Given the description of an element on the screen output the (x, y) to click on. 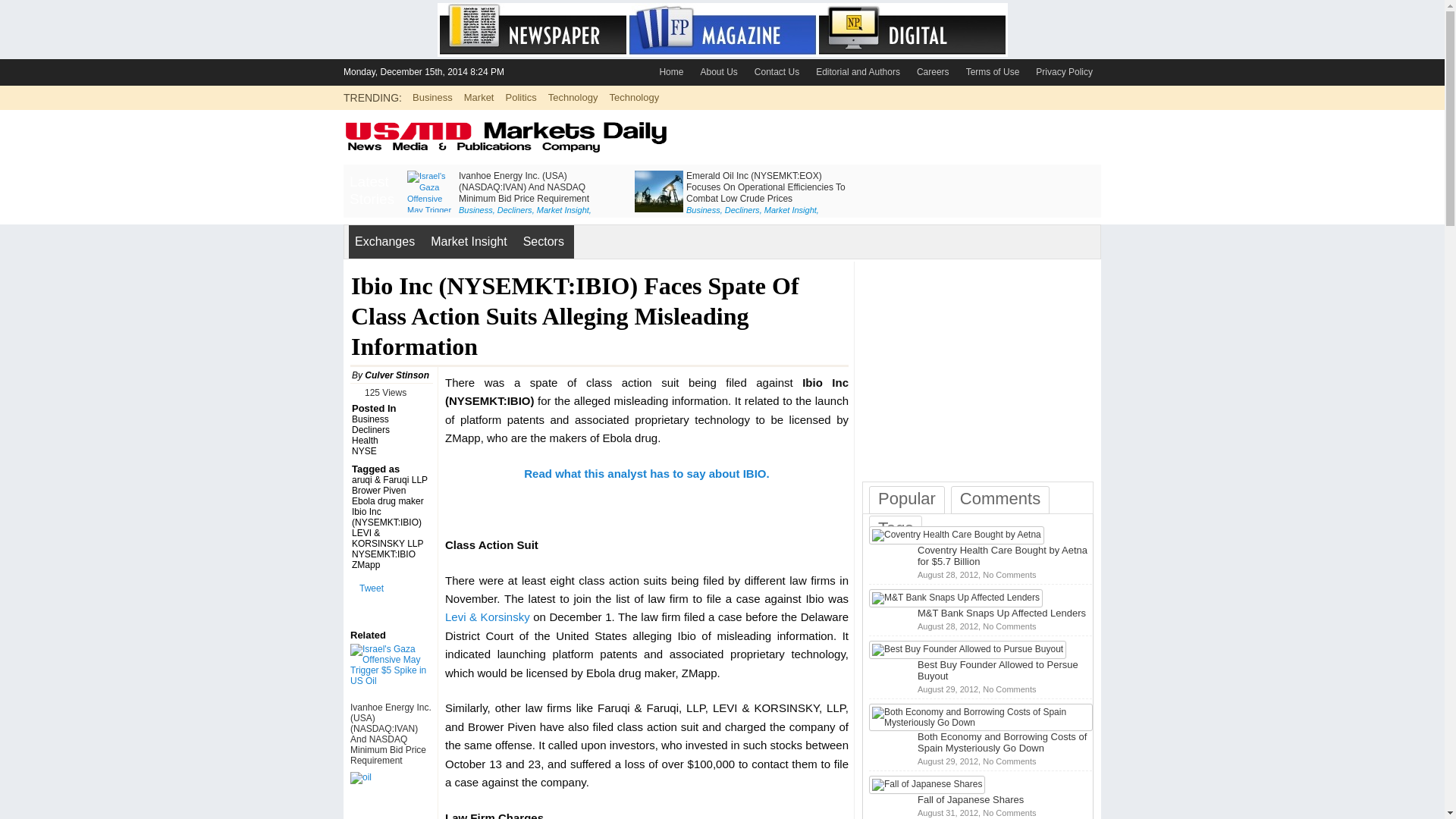
Decliners (514, 209)
Politics (520, 97)
View all posts by Culver Stinson (397, 375)
Business (702, 209)
Decliners (742, 209)
Market (479, 97)
Business (475, 209)
Business (432, 97)
